Given the description of an element on the screen output the (x, y) to click on. 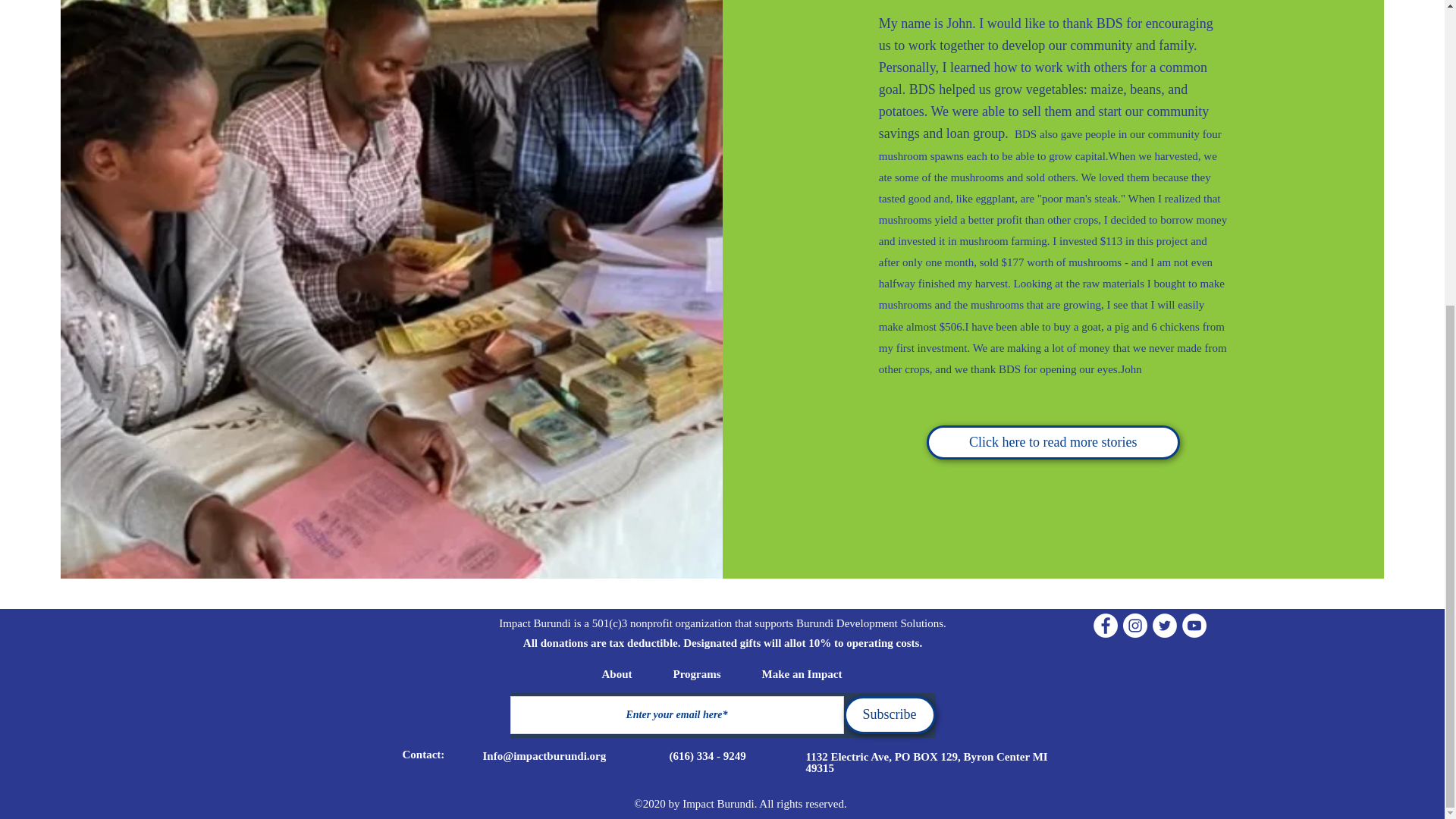
Make an Impact (801, 673)
Subscribe (888, 714)
Click here to read more stories (1052, 442)
Programs (697, 673)
